Given the description of an element on the screen output the (x, y) to click on. 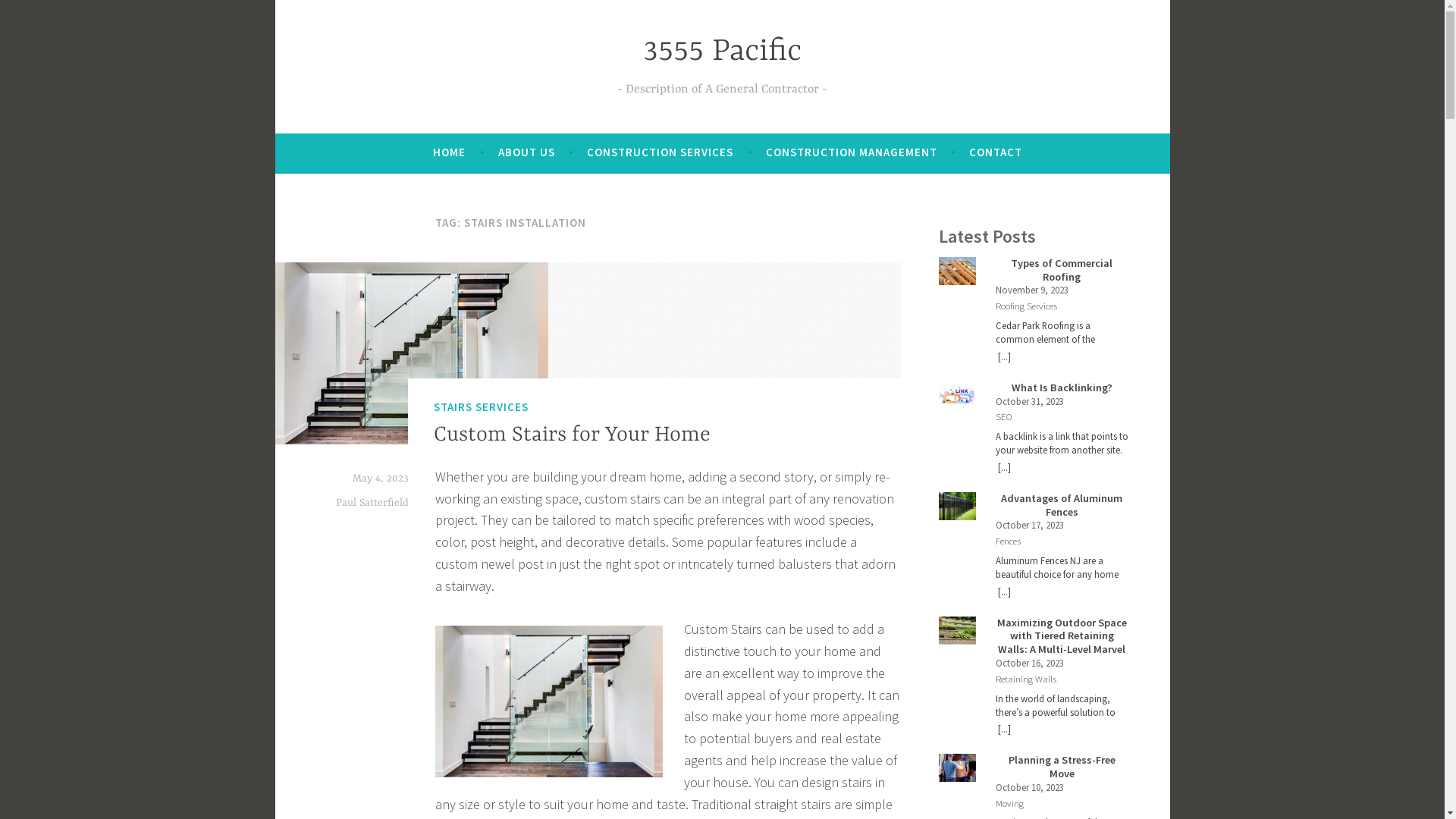
May 4, 2023 Element type: text (379, 478)
Planning a Stress-Free Move Element type: text (1060, 766)
STAIRS SERVICES Element type: text (480, 407)
Advantages of Aluminum Fences Element type: text (1060, 505)
CONSTRUCTION MANAGEMENT Element type: text (851, 152)
CONTACT Element type: text (995, 152)
Paul Satterfield Element type: text (371, 502)
What Is Backlinking? Element type: text (1060, 388)
HOME Element type: text (449, 152)
3555 Pacific Element type: text (722, 51)
CONSTRUCTION SERVICES Element type: text (659, 152)
Custom Stairs for Your Home Element type: text (571, 435)
Types of Commercial Roofing Element type: text (1060, 270)
ABOUT US Element type: text (526, 152)
